Given the description of an element on the screen output the (x, y) to click on. 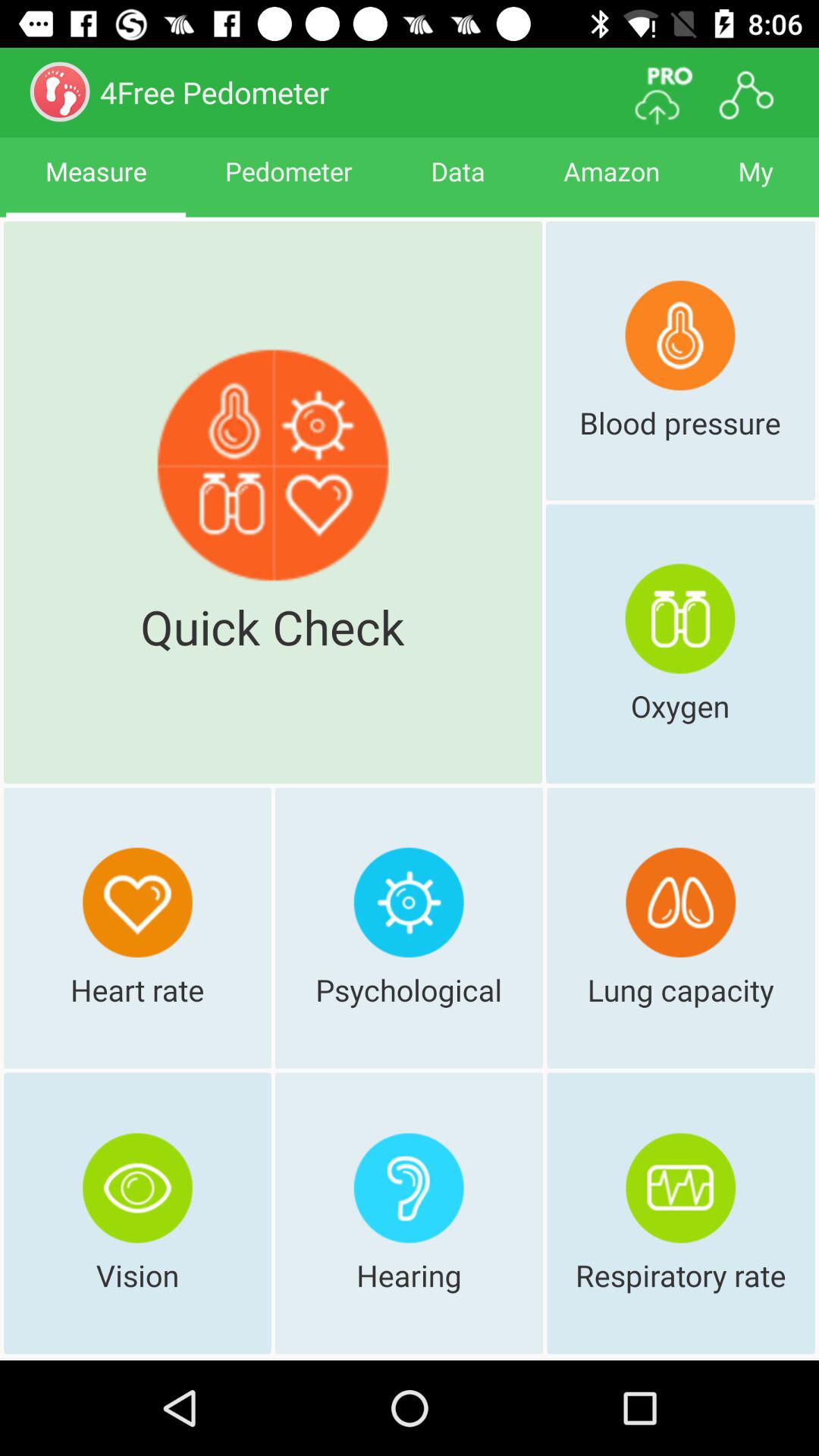
turn off the item next to the amazon item (755, 185)
